Given the description of an element on the screen output the (x, y) to click on. 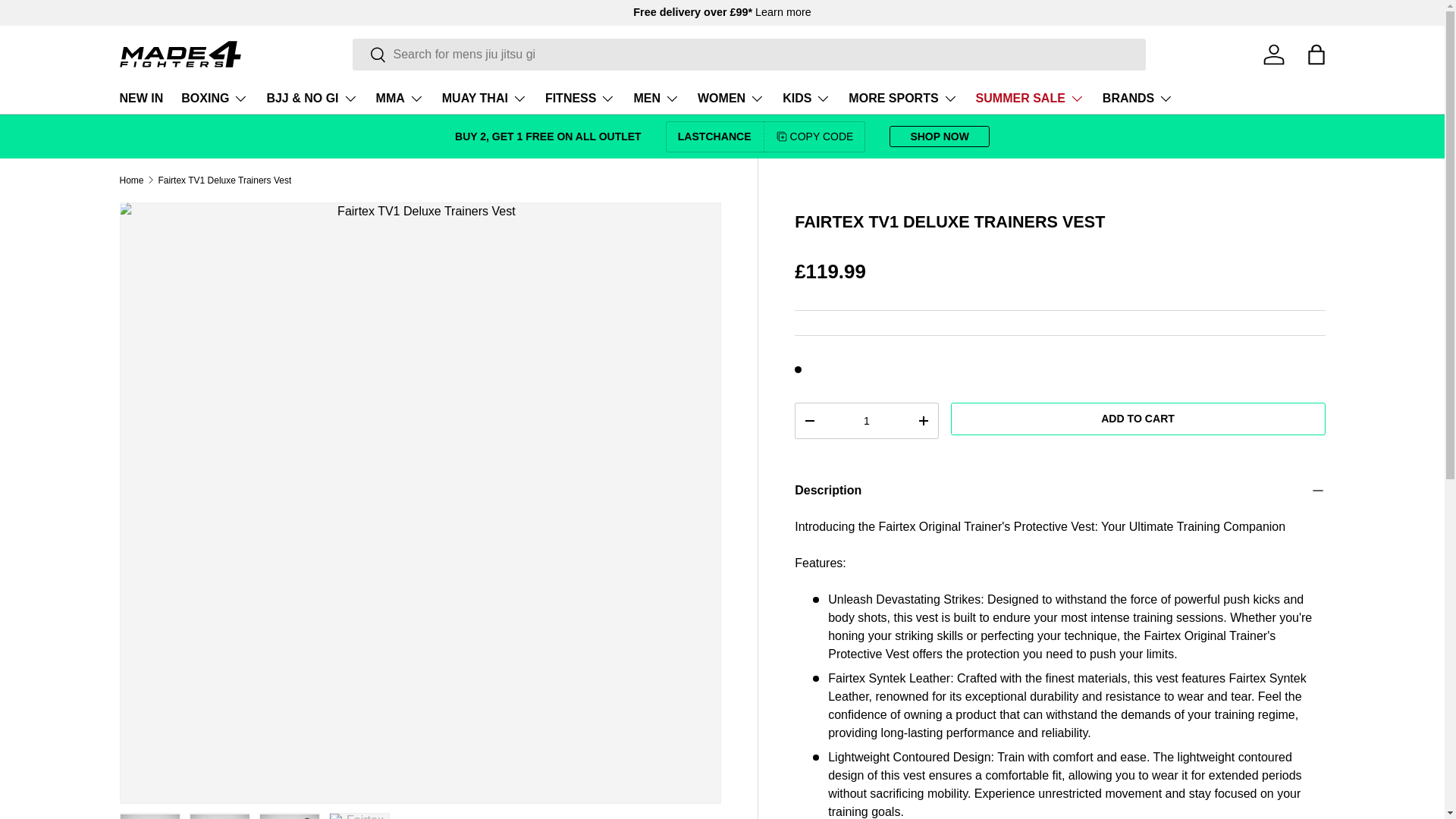
United Kingdom (782, 11)
Search (368, 55)
NEW IN (141, 98)
Bag (1316, 54)
SKIP TO CONTENT (68, 21)
Outlet (548, 136)
Log in (1273, 54)
BOXING (213, 98)
1 (866, 420)
Learn more (782, 11)
